Given the description of an element on the screen output the (x, y) to click on. 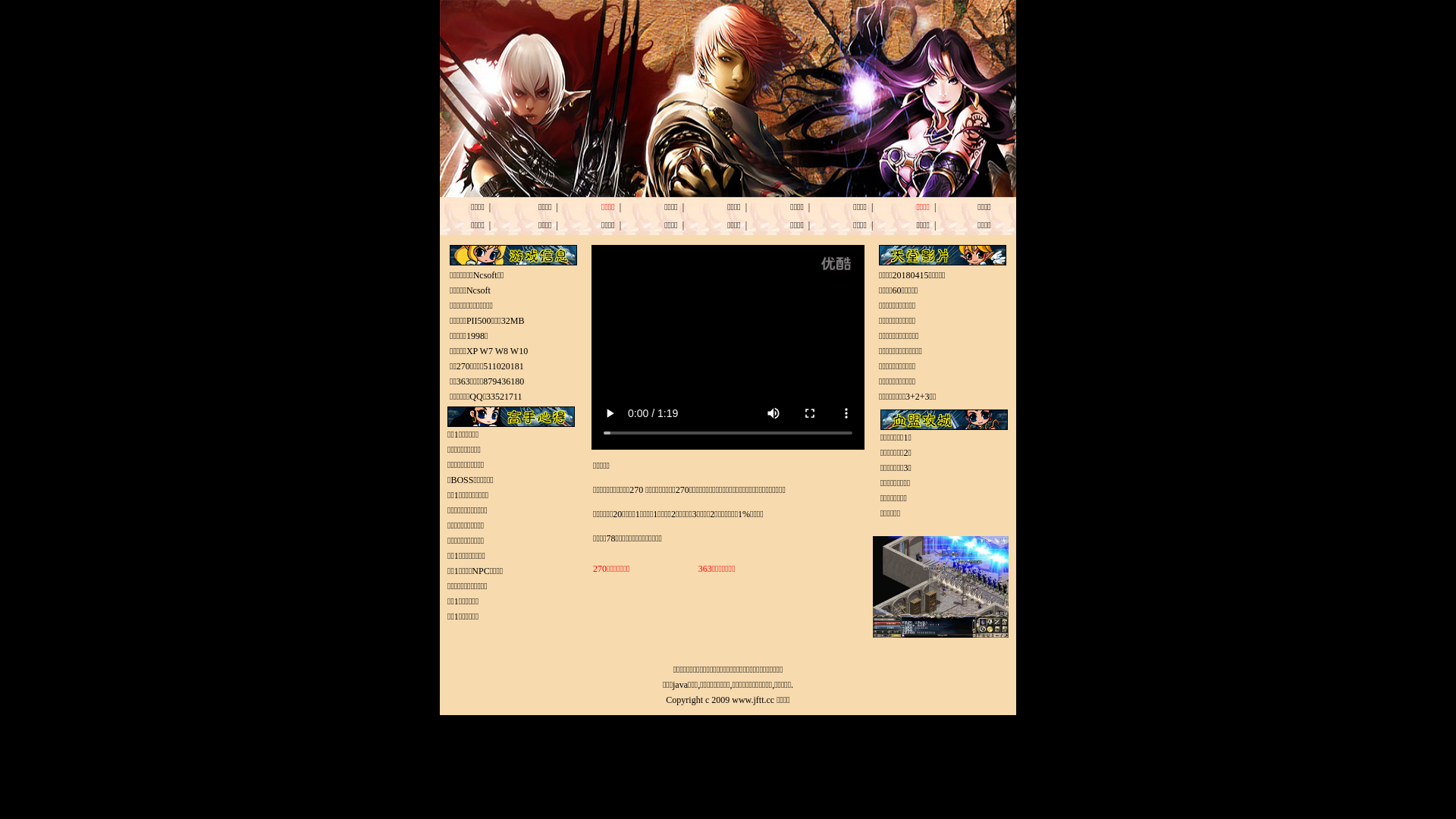
511020181 Element type: text (503, 365)
879436180 Element type: text (503, 381)
33521711 Element type: text (504, 396)
